Given the description of an element on the screen output the (x, y) to click on. 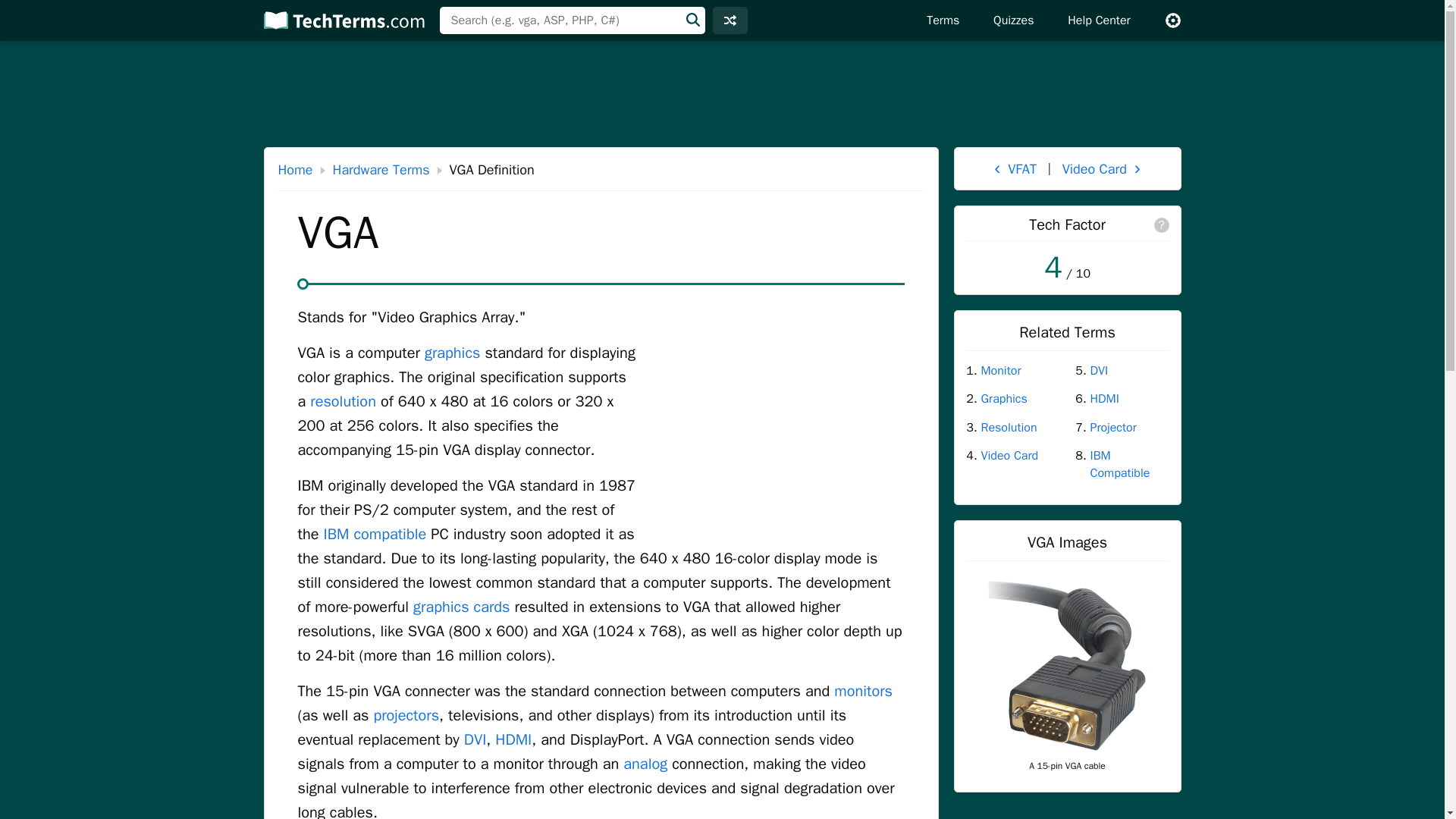
Random (730, 20)
3rd party ad content (775, 406)
resolution (342, 401)
What is the Tech Factor? (1161, 224)
Graphics (1020, 398)
Hardware Terms (381, 169)
? (1161, 224)
Resolution (1020, 427)
Quizzes (1013, 20)
graphics (452, 352)
monitors (863, 691)
graphics cards (461, 606)
IBM compatible (374, 533)
projectors (405, 714)
